Given the description of an element on the screen output the (x, y) to click on. 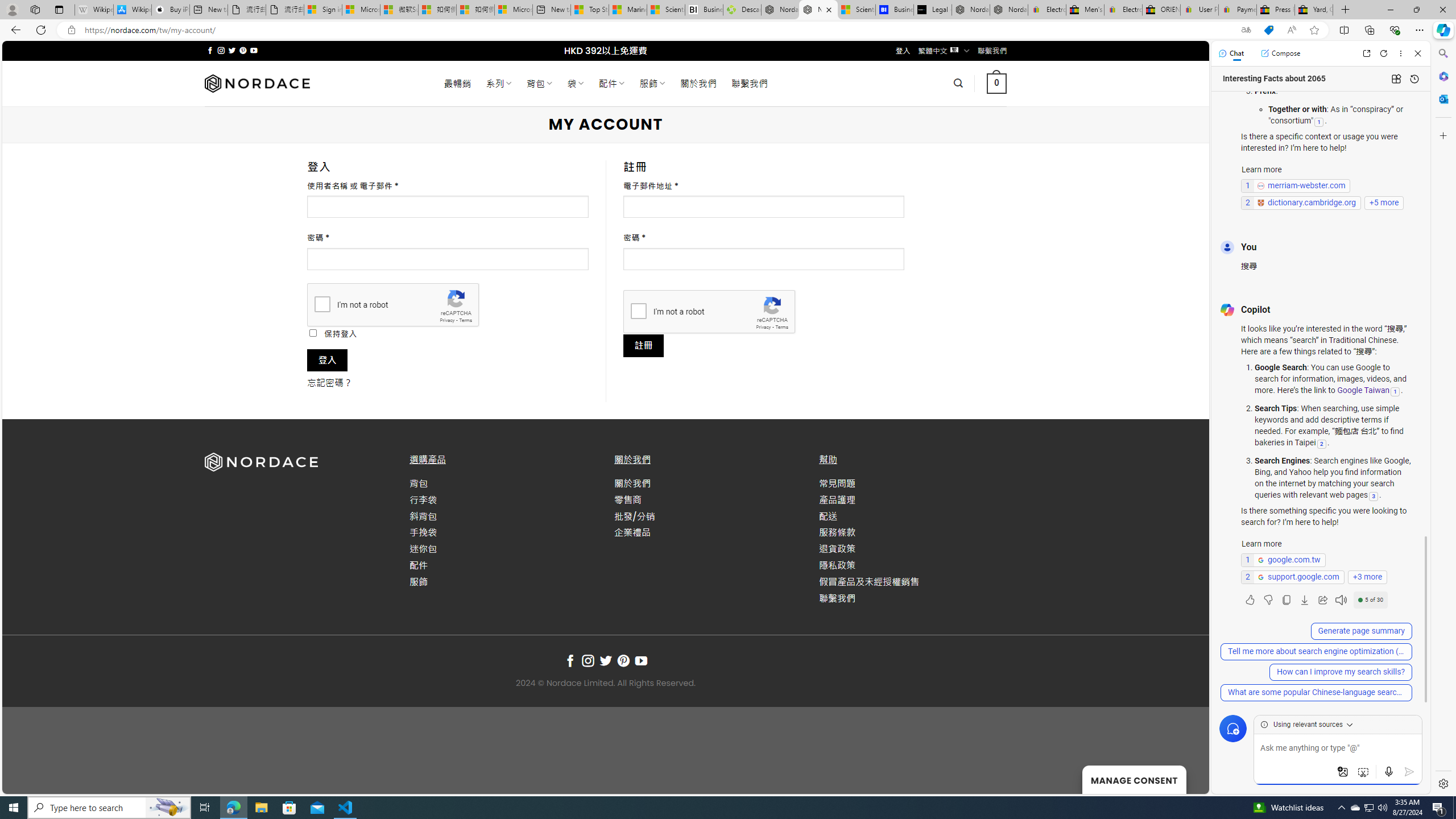
Compose (1280, 52)
Go to top (1185, 777)
